Given the description of an element on the screen output the (x, y) to click on. 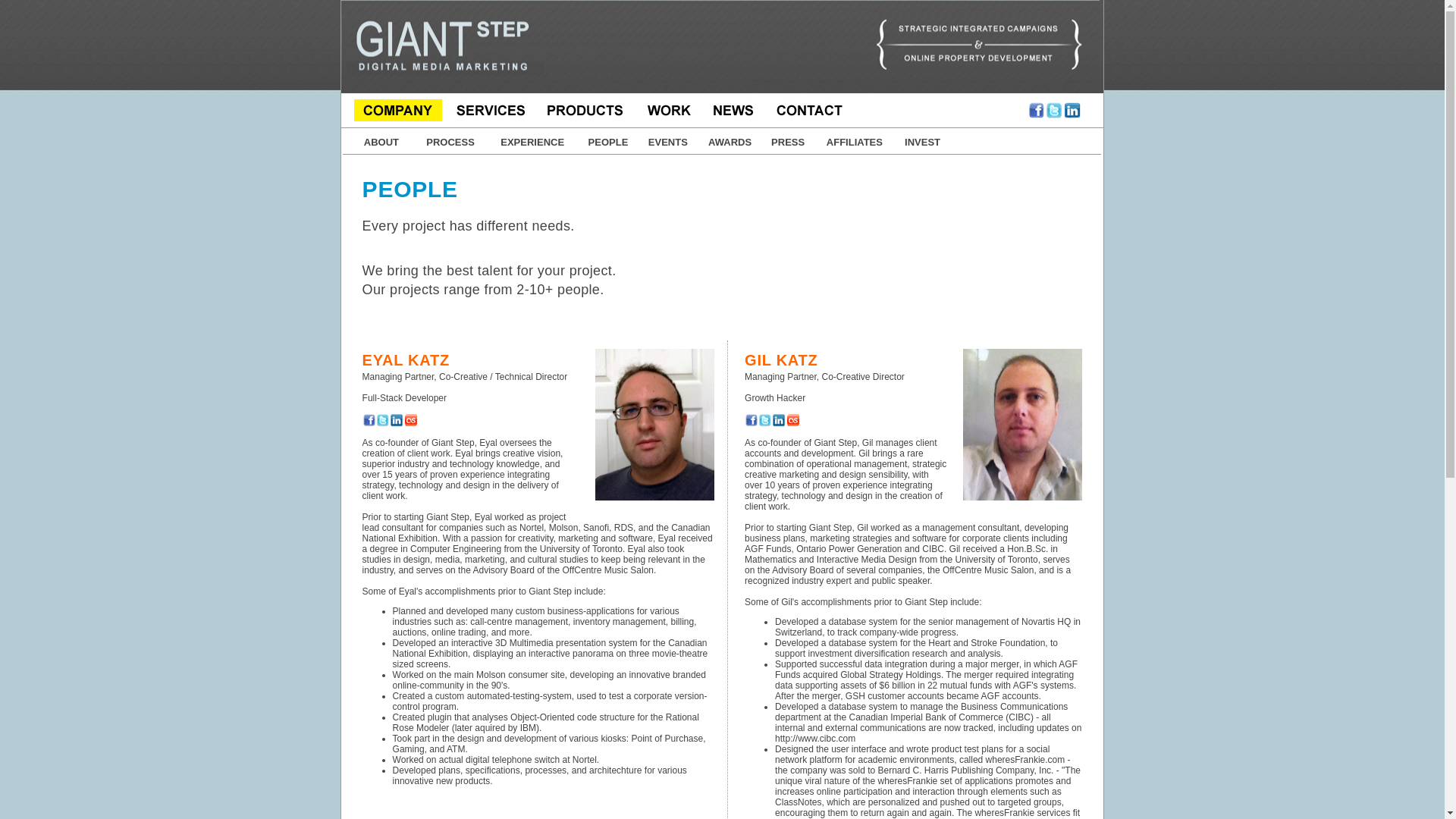
AWARDS (729, 142)
EVENTS (667, 142)
PROCESS (450, 142)
AFFILIATES (854, 142)
PRESS (788, 142)
INVEST (922, 142)
EXPERIENCE (532, 142)
ABOUT (381, 142)
PEOPLE (608, 142)
